Given the description of an element on the screen output the (x, y) to click on. 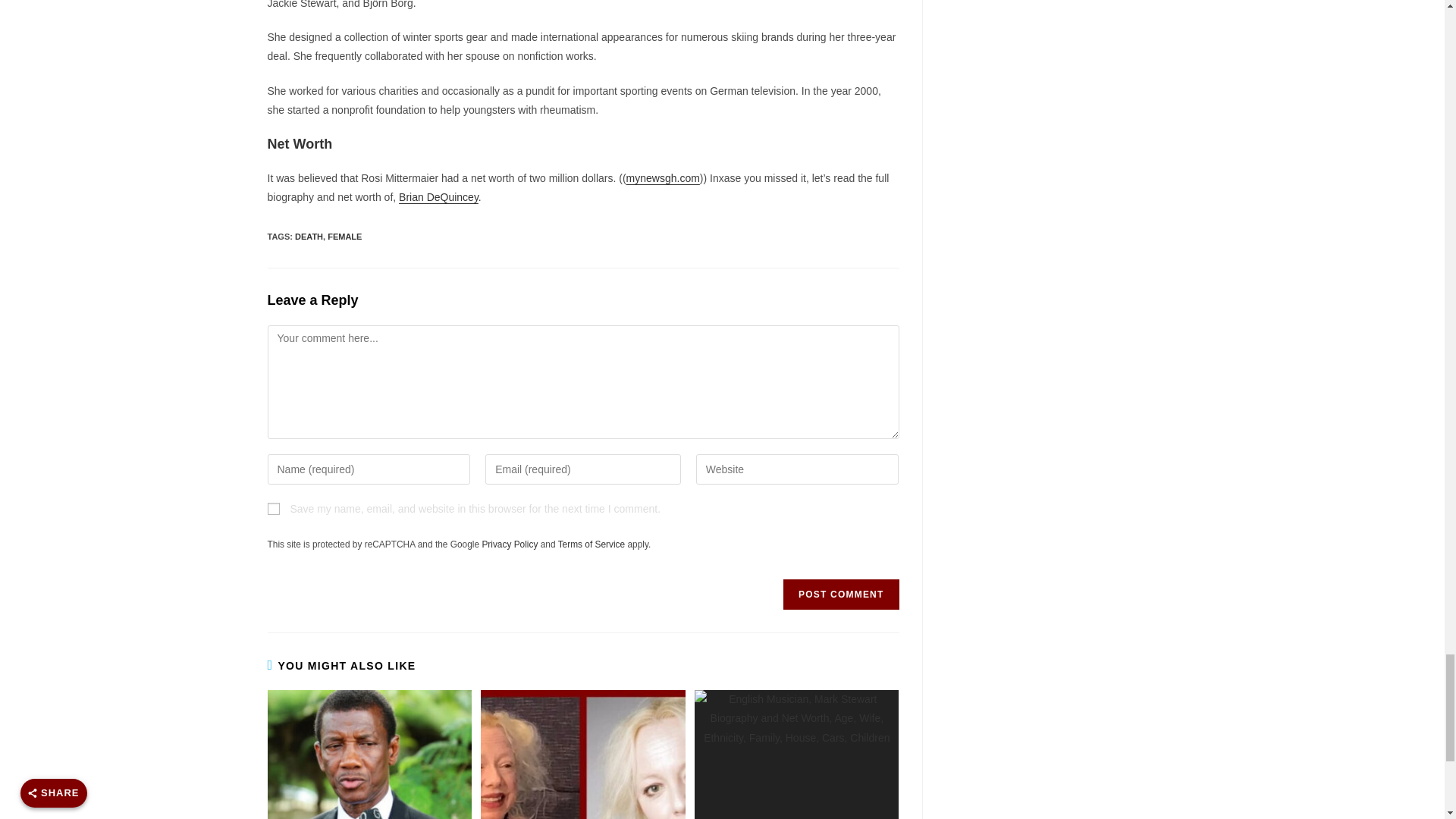
Post Comment (840, 594)
yes (272, 508)
